Given the description of an element on the screen output the (x, y) to click on. 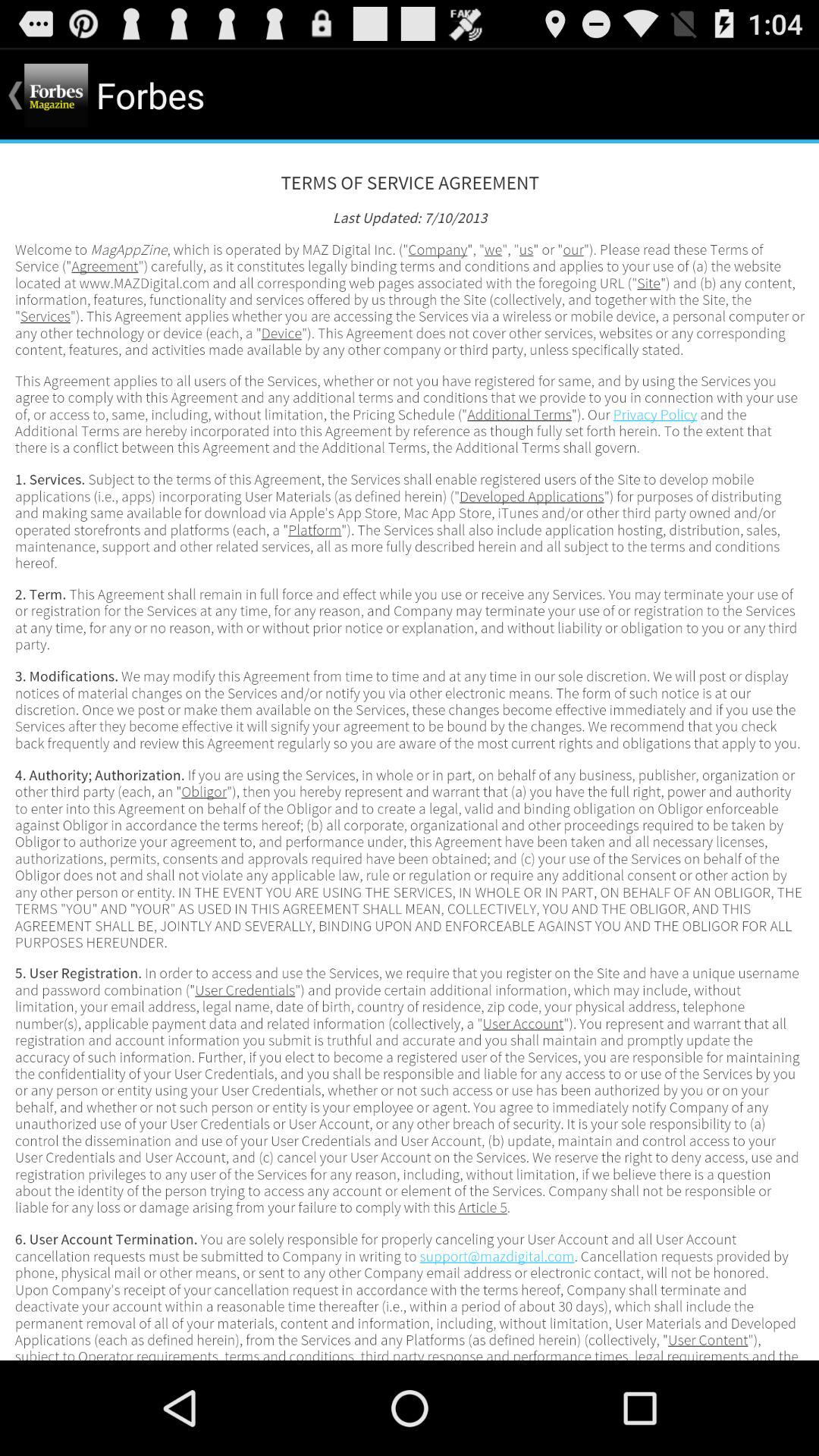
screen page (409, 751)
